Given the description of an element on the screen output the (x, y) to click on. 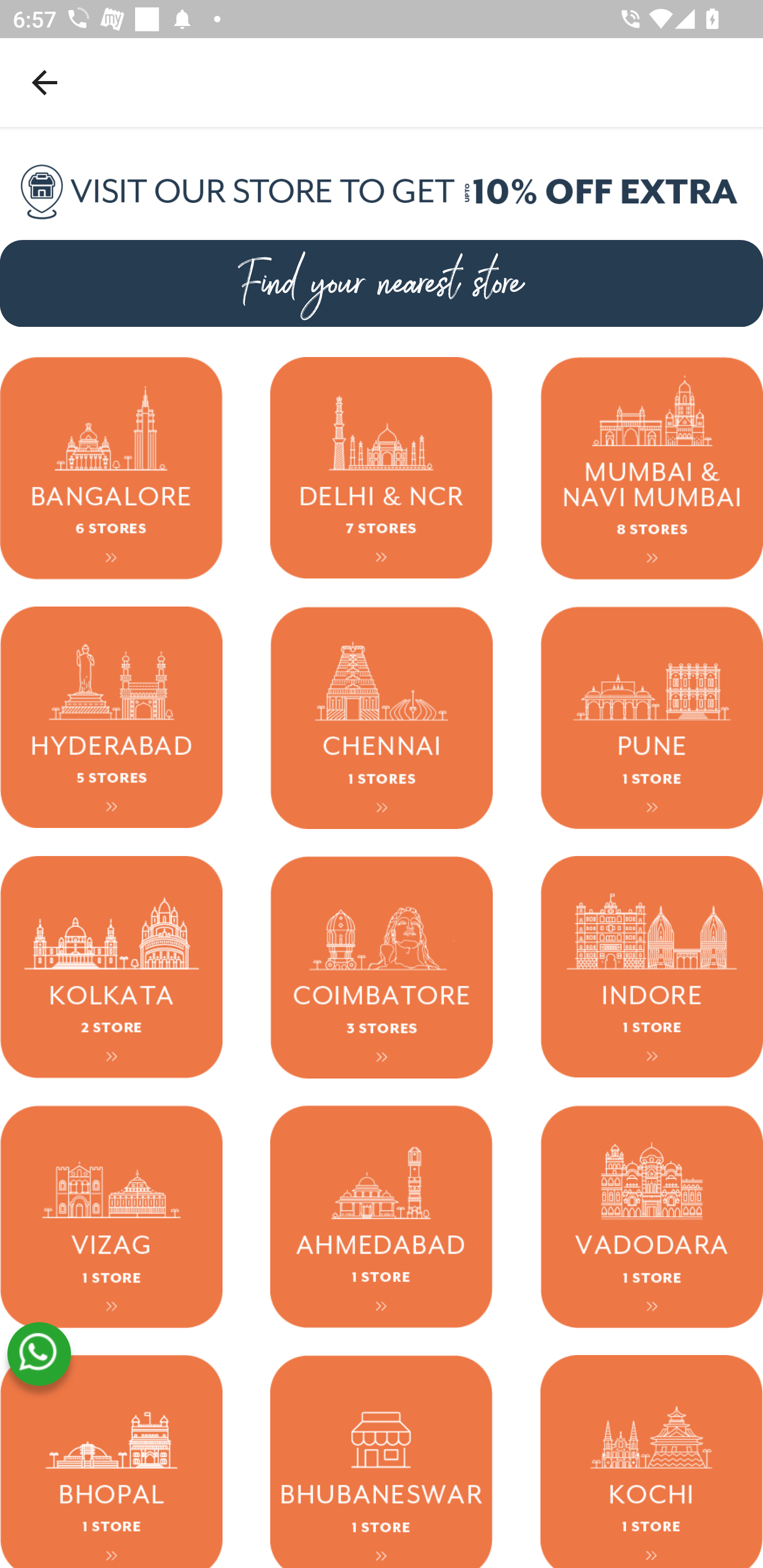
Navigate up (44, 82)
Bangalore (111, 467)
NCR (381, 467)
Mumbai (651, 467)
Hyderabad (111, 717)
Pune-store (651, 717)
Kolkata (111, 966)
Indore (651, 966)
Vizag (111, 1215)
vadodara (651, 1215)
whatsapp (38, 1353)
Bhopal (111, 1461)
Bhubneshwar (381, 1461)
